Given the description of an element on the screen output the (x, y) to click on. 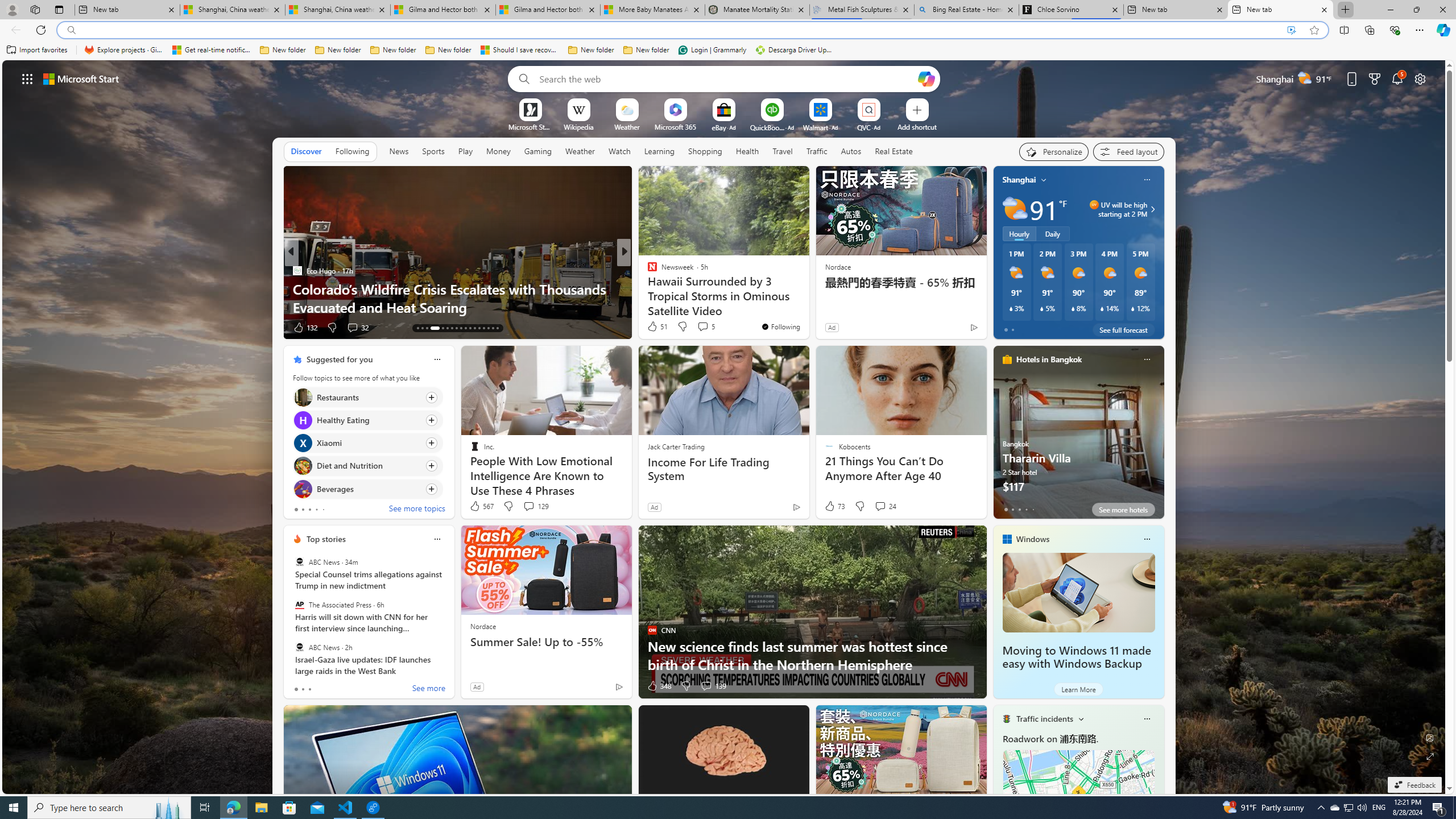
Traffic (816, 151)
Enter your search term (726, 78)
Favorites bar (728, 49)
ABC News (299, 646)
2k Like (302, 327)
View comments 24 Comment (879, 505)
AutomationID: tab-18 (422, 328)
15 Like (652, 327)
